Given the description of an element on the screen output the (x, y) to click on. 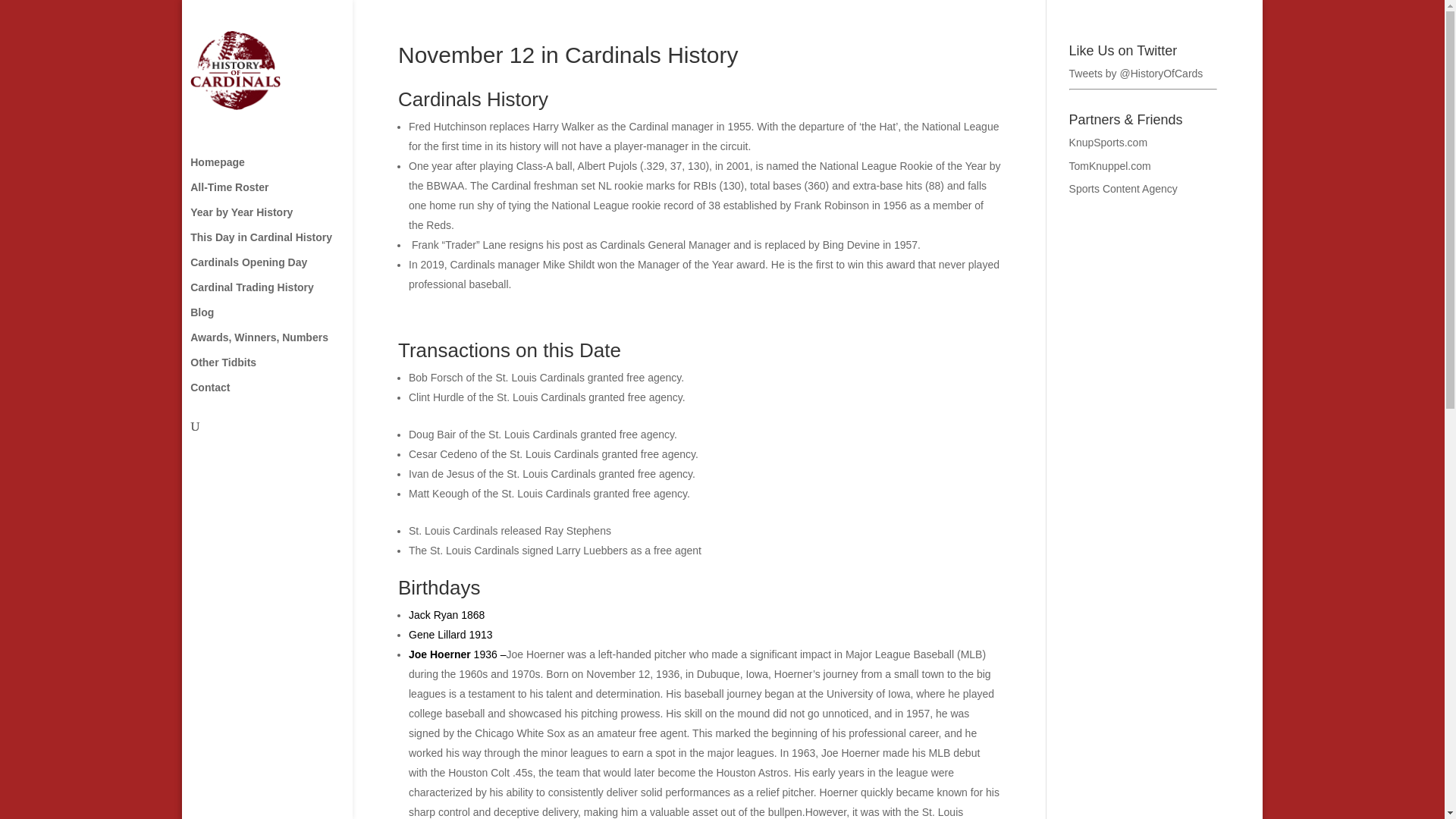
Sports Content Agency (1122, 188)
Sports Blog (1108, 142)
Year by Year History (282, 219)
TomKnuppel.com (1109, 165)
Cardinal Trading History (282, 294)
Other Tidbits (282, 369)
KnupSports.com (1108, 142)
Blog (282, 319)
Sports Content Agency (1122, 188)
Cardinals Opening Day (282, 269)
Homepage (282, 169)
All-Time Roster (282, 194)
This Day in Cardinal History (282, 244)
Contact (282, 394)
Tom Knuppel (1109, 165)
